Given the description of an element on the screen output the (x, y) to click on. 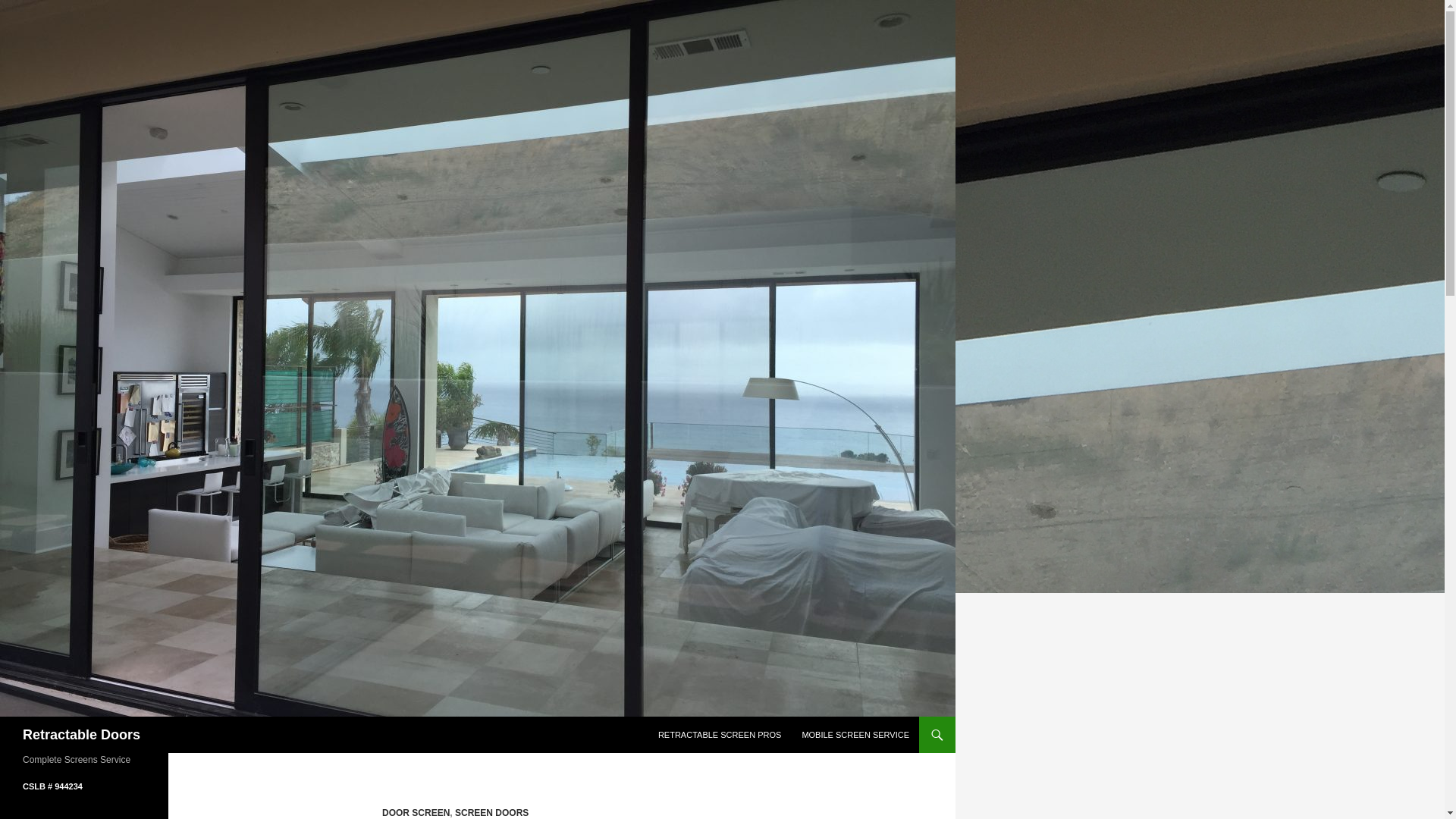
Retractable Screen Doors (719, 734)
MOBILE SCREEN SERVICE (855, 734)
DOOR SCREEN (415, 812)
RETRACTABLE SCREEN PROS (719, 734)
Retractable Doors (81, 734)
SCREEN DOORS (491, 812)
